Given the description of an element on the screen output the (x, y) to click on. 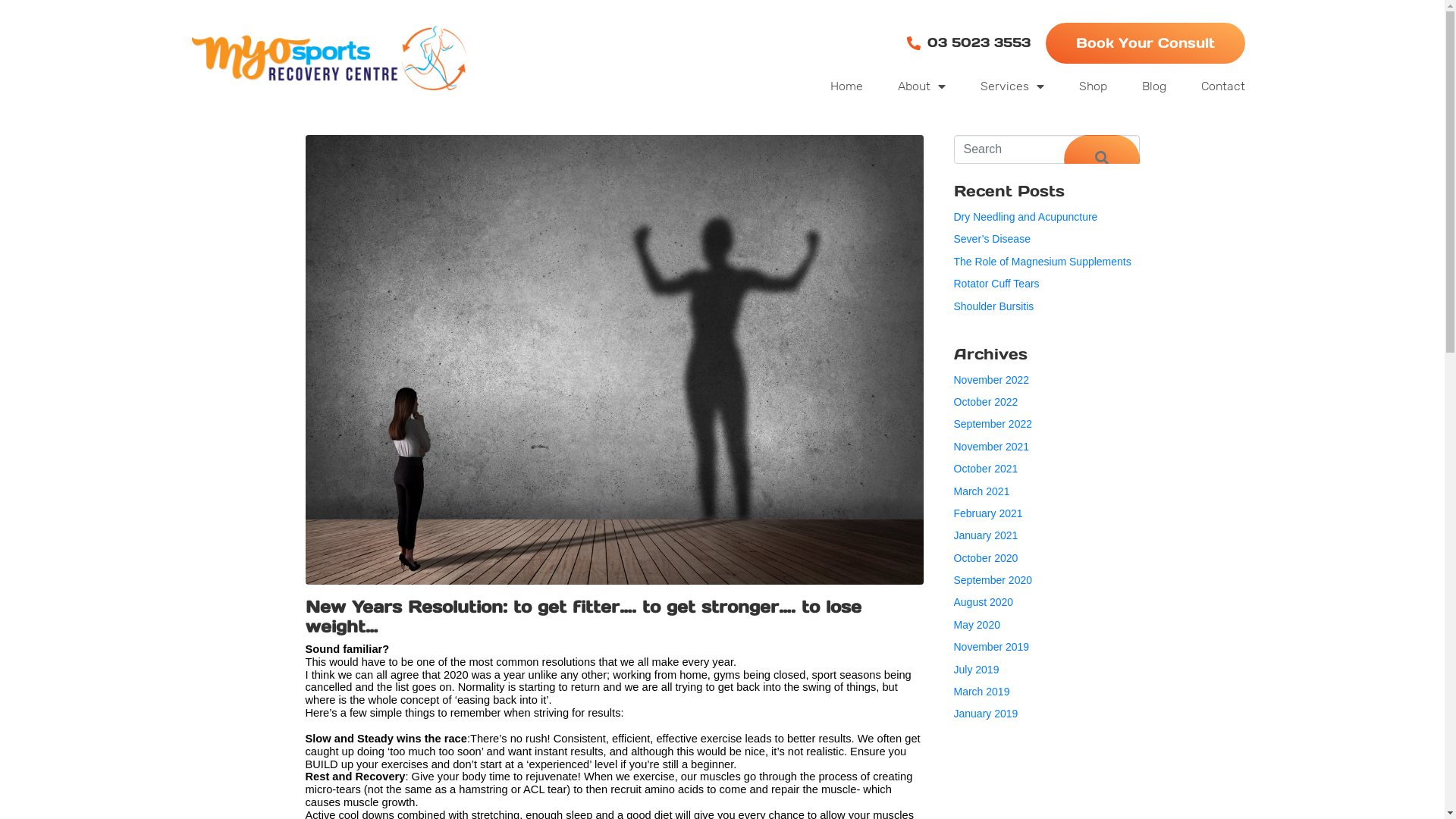
January 2019 Element type: text (985, 713)
Shoulder Bursitis Element type: text (993, 306)
November 2022 Element type: text (991, 379)
July 2019 Element type: text (976, 669)
October 2022 Element type: text (985, 401)
Home Element type: text (846, 86)
Book Your Consult Element type: text (1145, 42)
The Role of Magnesium Supplements Element type: text (1042, 261)
September 2020 Element type: text (992, 580)
November 2021 Element type: text (991, 446)
Lets actually achieve our 2021 New Year Resolutions! Element type: hover (613, 358)
Contact Element type: text (1223, 86)
March 2019 Element type: text (981, 691)
Shop Element type: text (1093, 86)
August 2020 Element type: text (983, 602)
Rotator Cuff Tears Element type: text (996, 283)
March 2021 Element type: text (981, 491)
September 2022 Element type: text (992, 423)
May 2020 Element type: text (976, 624)
03 5023 3553 Element type: text (968, 43)
Services Element type: text (1012, 86)
October 2021 Element type: text (985, 468)
Dry Needling and Acupuncture Element type: text (1025, 216)
January 2021 Element type: text (985, 535)
Blog Element type: text (1154, 86)
October 2020 Element type: text (985, 558)
About Element type: text (921, 86)
February 2021 Element type: text (987, 513)
November 2019 Element type: text (991, 646)
